Given the description of an element on the screen output the (x, y) to click on. 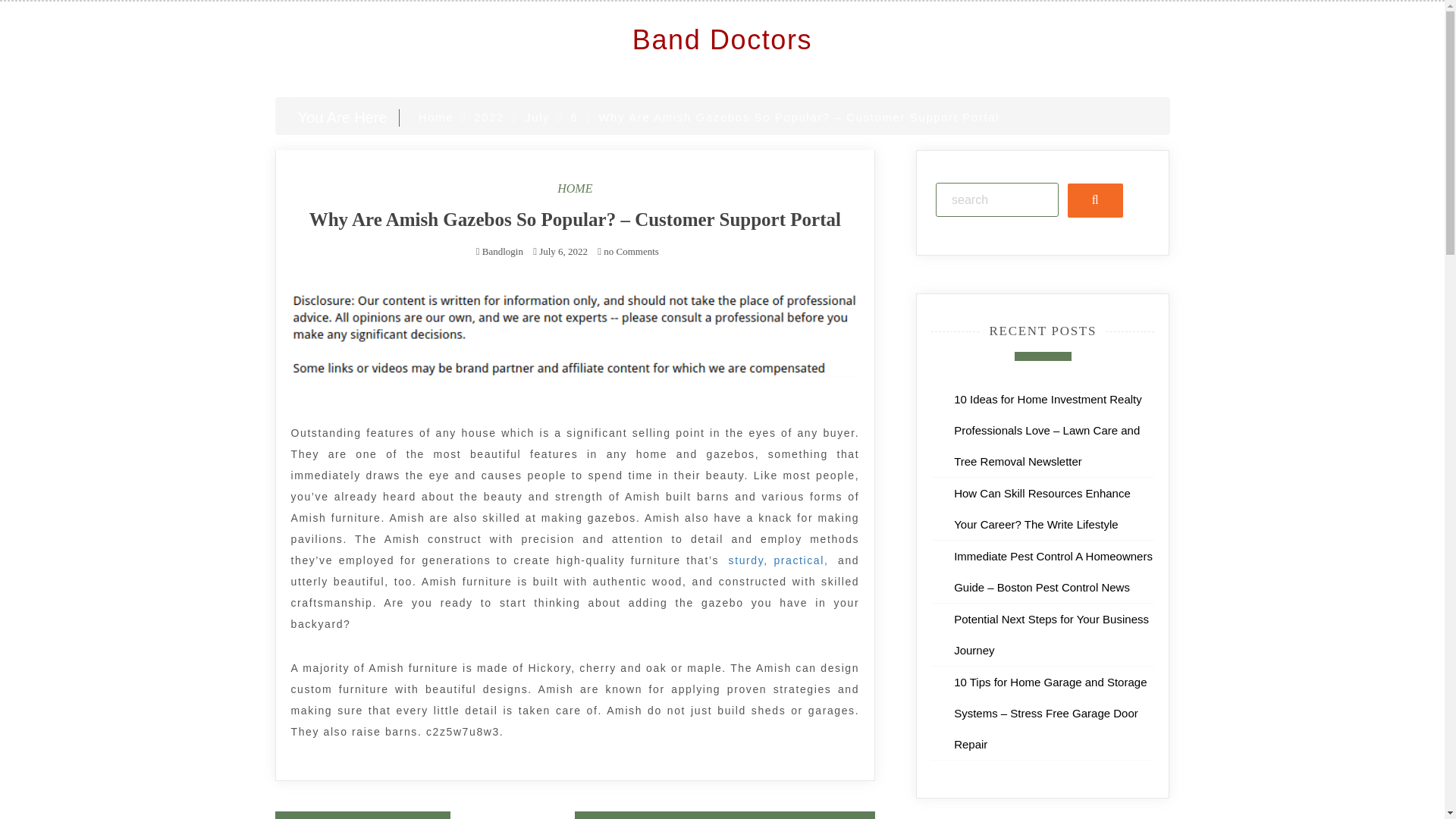
July (537, 116)
Posts by Bandlogin (501, 251)
Band Doctors (721, 39)
2022 (488, 116)
Bandlogin (501, 251)
HOME (574, 187)
no Comments (627, 251)
sturdy, practical, (778, 560)
Potential Next Steps for Your Business Journey (1050, 634)
